Given the description of an element on the screen output the (x, y) to click on. 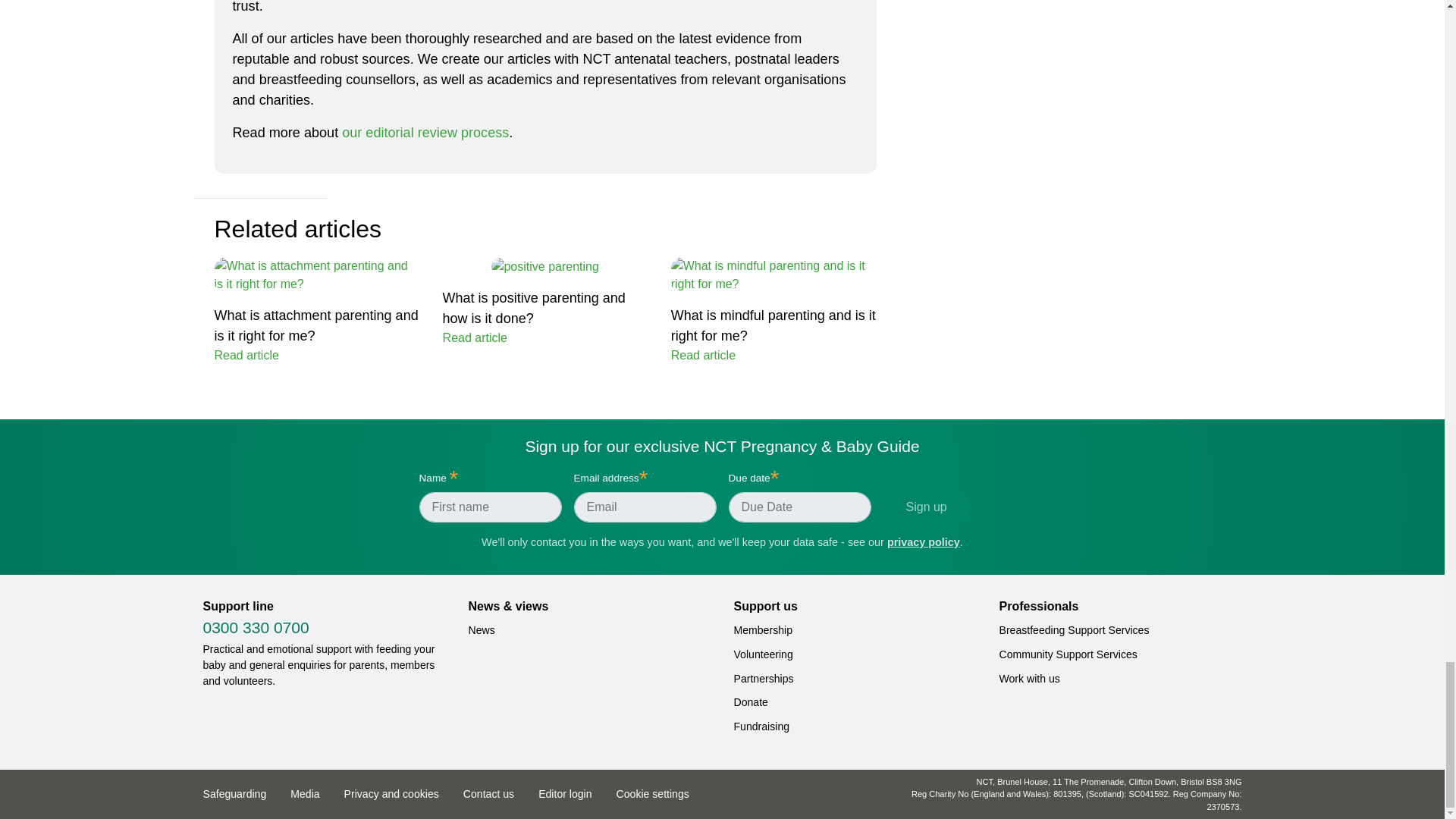
Sign up (925, 507)
